Given the description of an element on the screen output the (x, y) to click on. 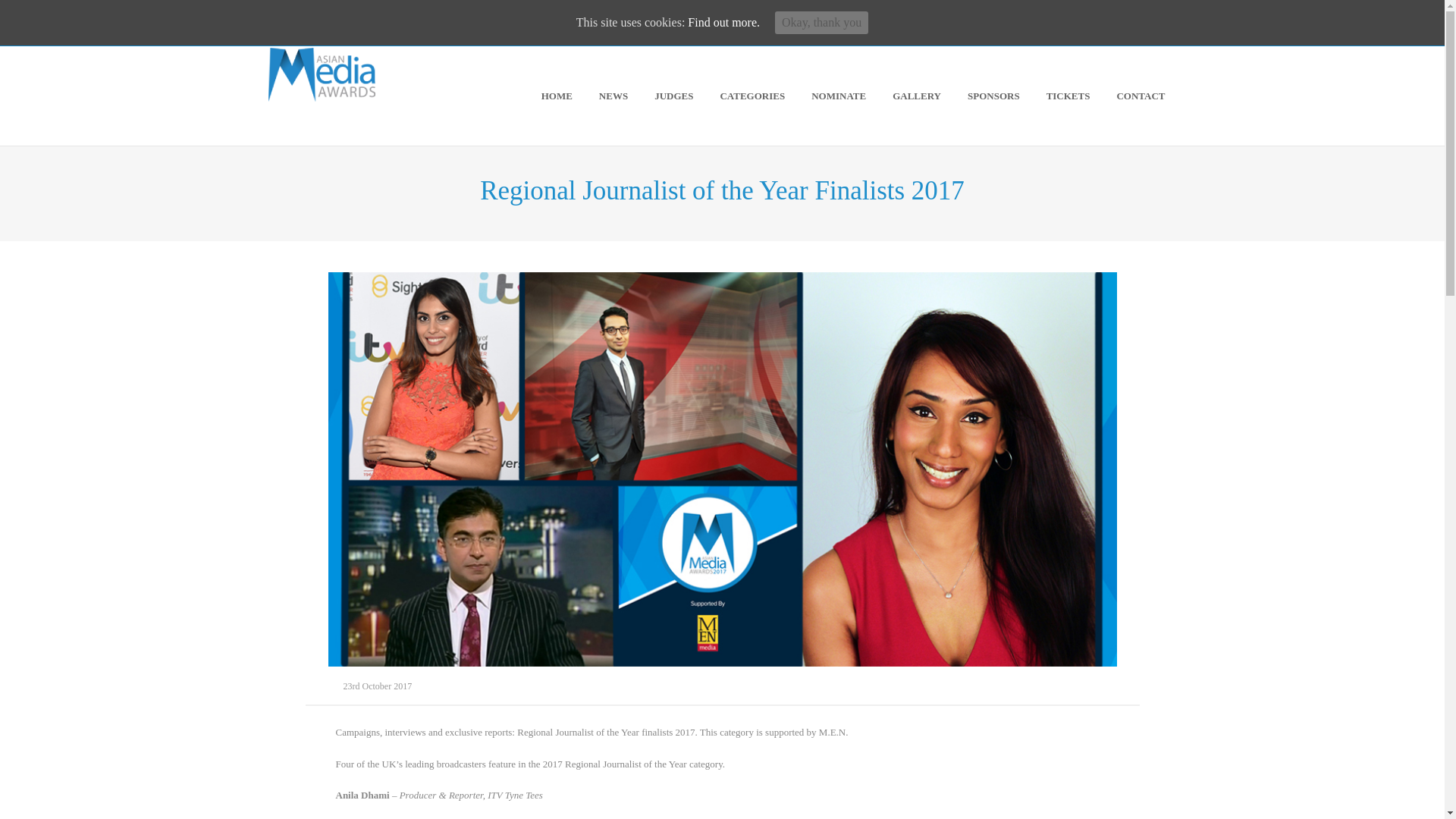
SPONSORS (993, 95)
Asian Media Awards (320, 72)
NEWS (613, 95)
23rd October 2017 (377, 685)
GALLERY (916, 95)
HOME (556, 95)
NOMINATE (838, 95)
JUDGES (673, 95)
TICKETS (1068, 95)
CATEGORIES (751, 95)
CONTACT (1140, 95)
